Given the description of an element on the screen output the (x, y) to click on. 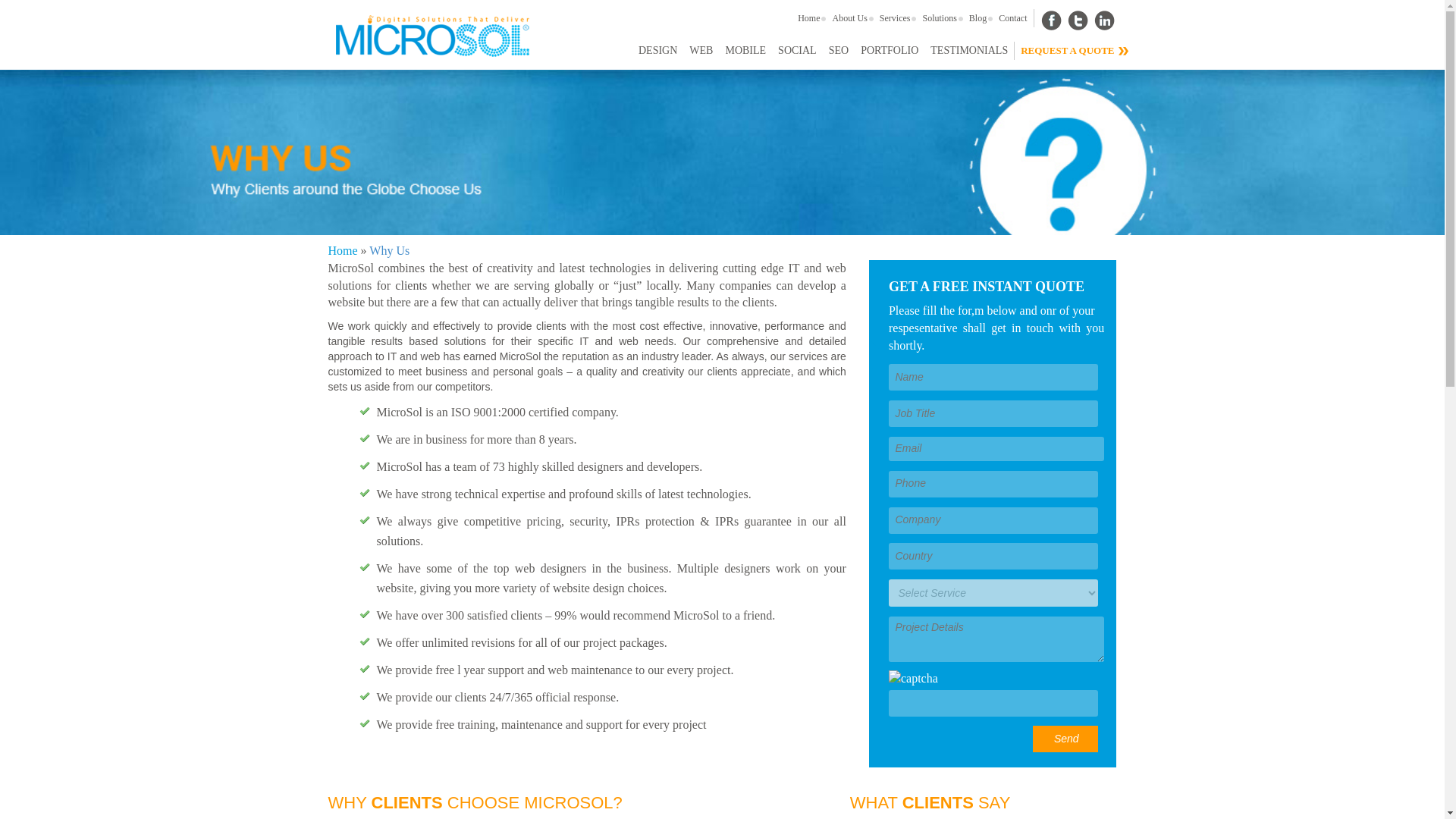
Contact (1012, 18)
REQUEST A QUOTE (1066, 50)
PORTFOLIO (889, 50)
MOBILE (745, 50)
Home (808, 18)
Solutions (938, 18)
Blog (977, 18)
SOCIAL (796, 50)
Send (1064, 738)
About Us (848, 18)
WEB (700, 50)
TESTIMONIALS (968, 50)
Services (895, 18)
Send (1064, 738)
DESIGN (656, 50)
